Given the description of an element on the screen output the (x, y) to click on. 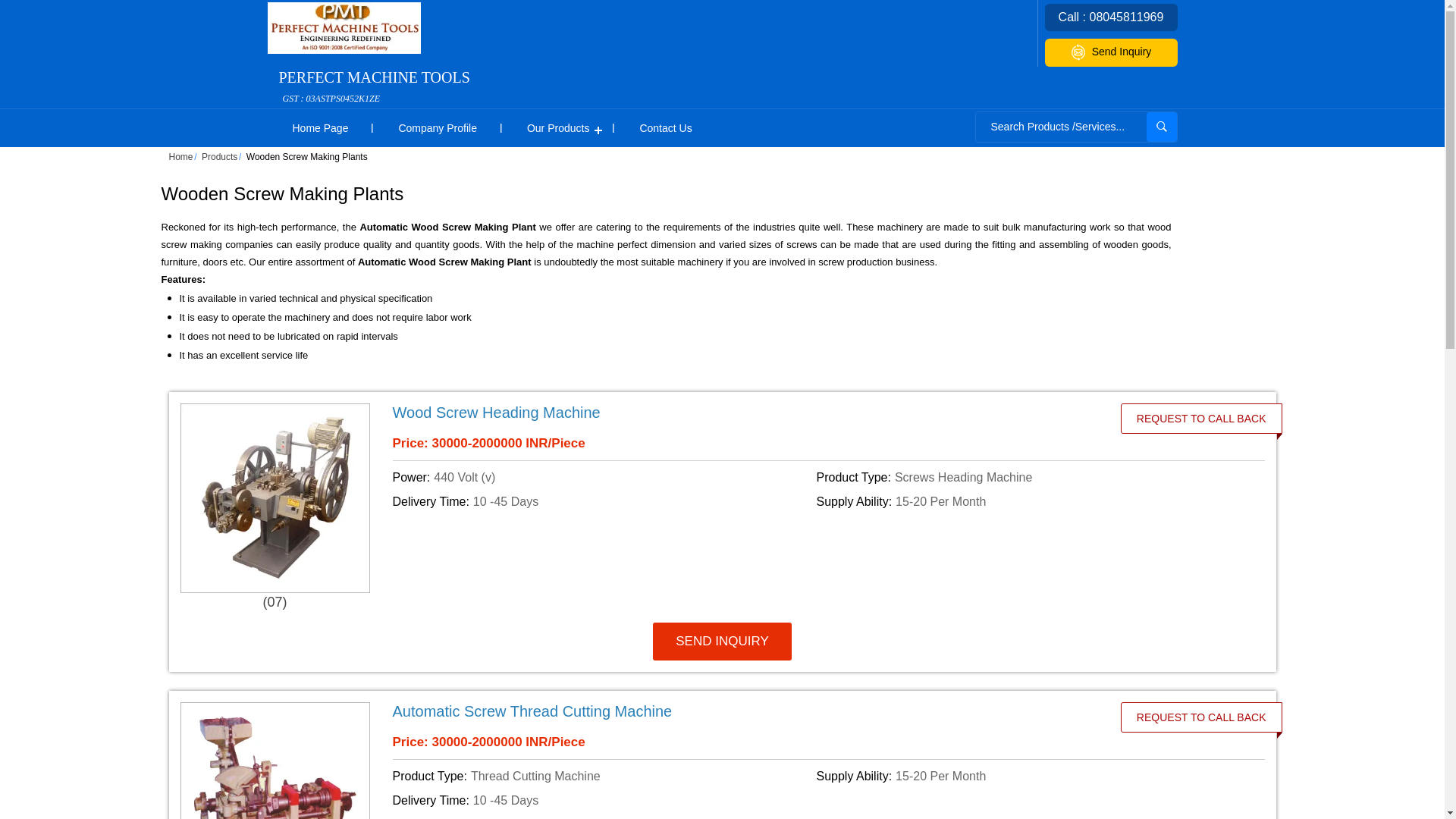
Home Page (319, 127)
Send Inquiry (1111, 52)
Wood Screw Heading Machine (741, 412)
Supply Ability: 15-20 Per Month (1024, 776)
Company Profile (437, 127)
Delivery Time: 10 -45 Days (601, 800)
Home (180, 156)
Delivery Time: 10 -45 Days (601, 502)
SEND INQUIRY (722, 641)
Our Products (558, 127)
Contact Us (665, 127)
Product Type: Screws Heading Machine (1024, 477)
REQUEST TO CALL BACK (1201, 418)
Product Type: Thread Cutting Machine (601, 776)
submit (1161, 126)
